Given the description of an element on the screen output the (x, y) to click on. 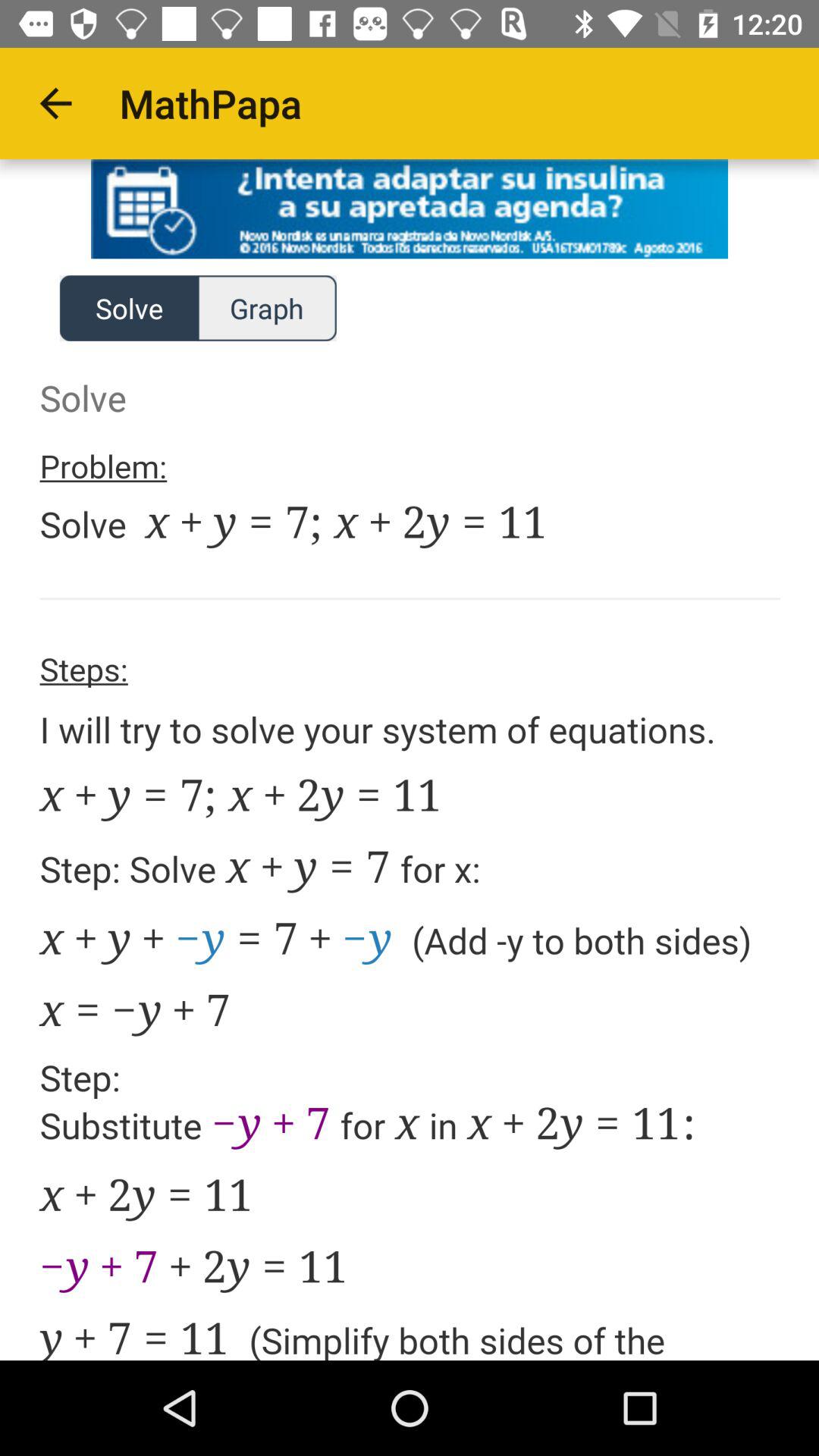
click advertisement (409, 208)
